Given the description of an element on the screen output the (x, y) to click on. 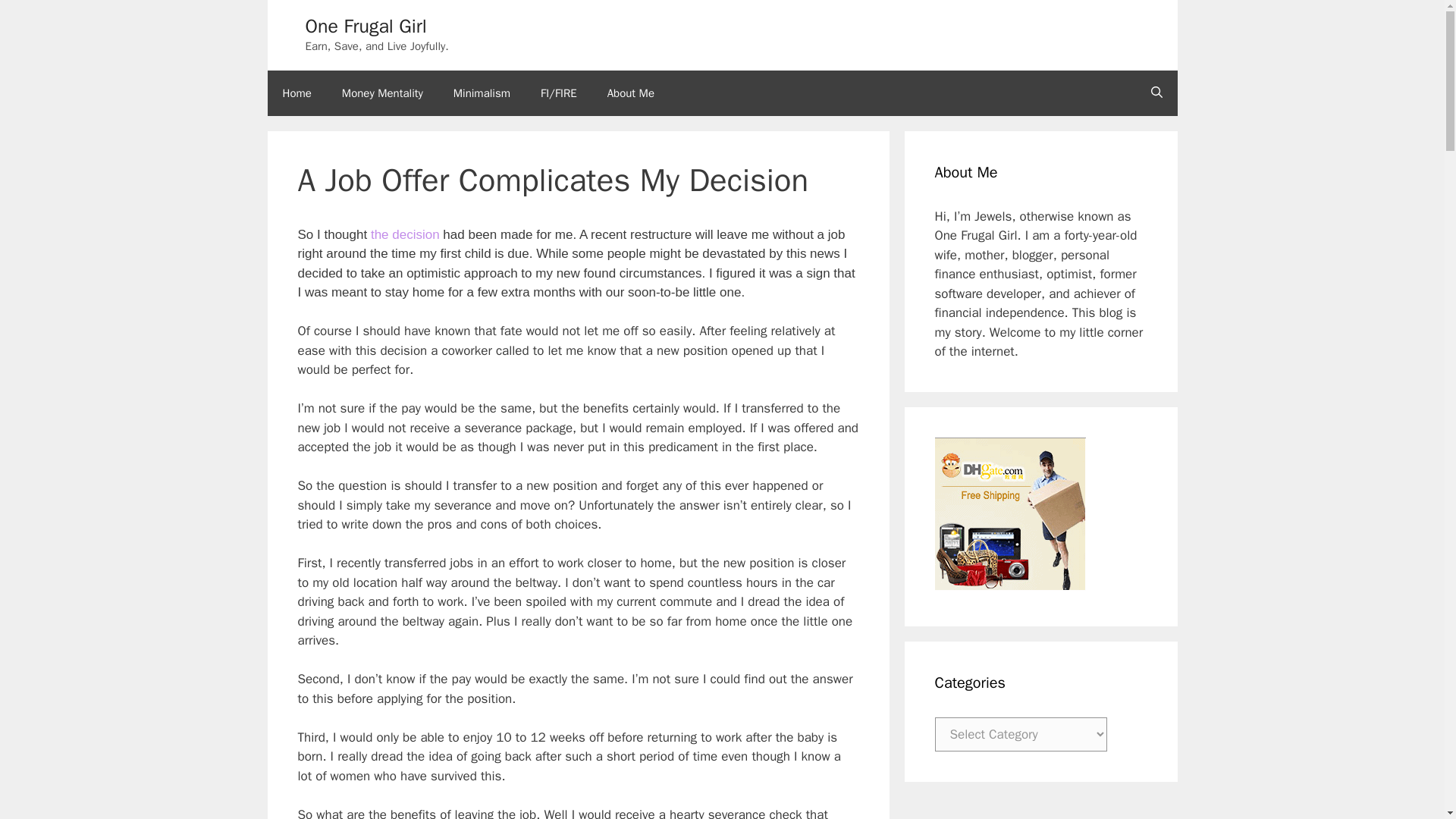
Minimalism (481, 92)
the decision (405, 234)
One Frugal Girl (365, 25)
Money Mentality (382, 92)
About Me (630, 92)
Home (296, 92)
